Given the description of an element on the screen output the (x, y) to click on. 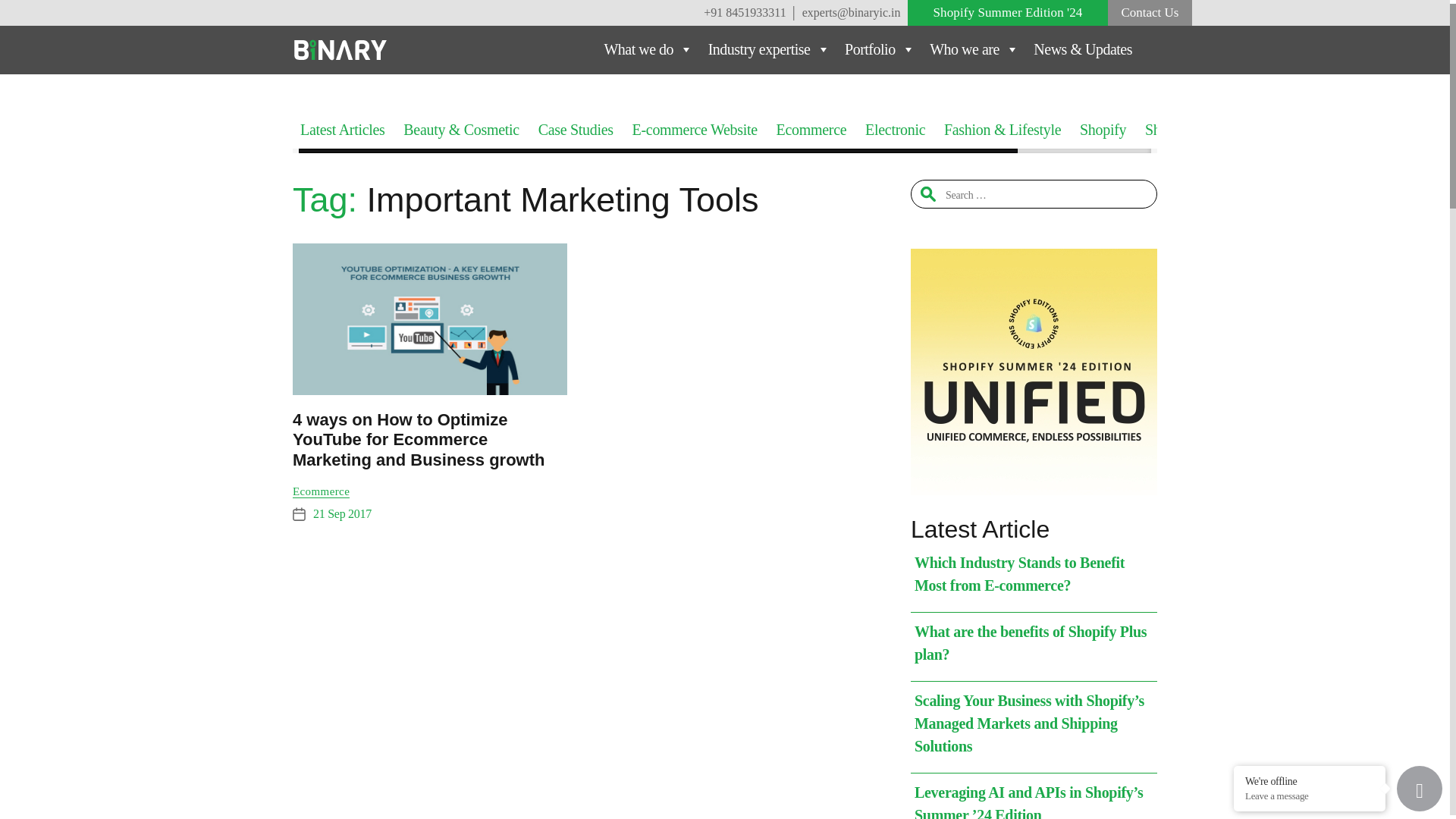
Leave a message (1309, 796)
We're offline (1309, 780)
Free Website Audit (1007, 12)
Industry expertise (768, 49)
Contact Us (1149, 12)
Free Website Audit (1149, 12)
Portfolio (879, 49)
Shopify Summer Edition '24 (1007, 12)
What we do (647, 49)
